Given the description of an element on the screen output the (x, y) to click on. 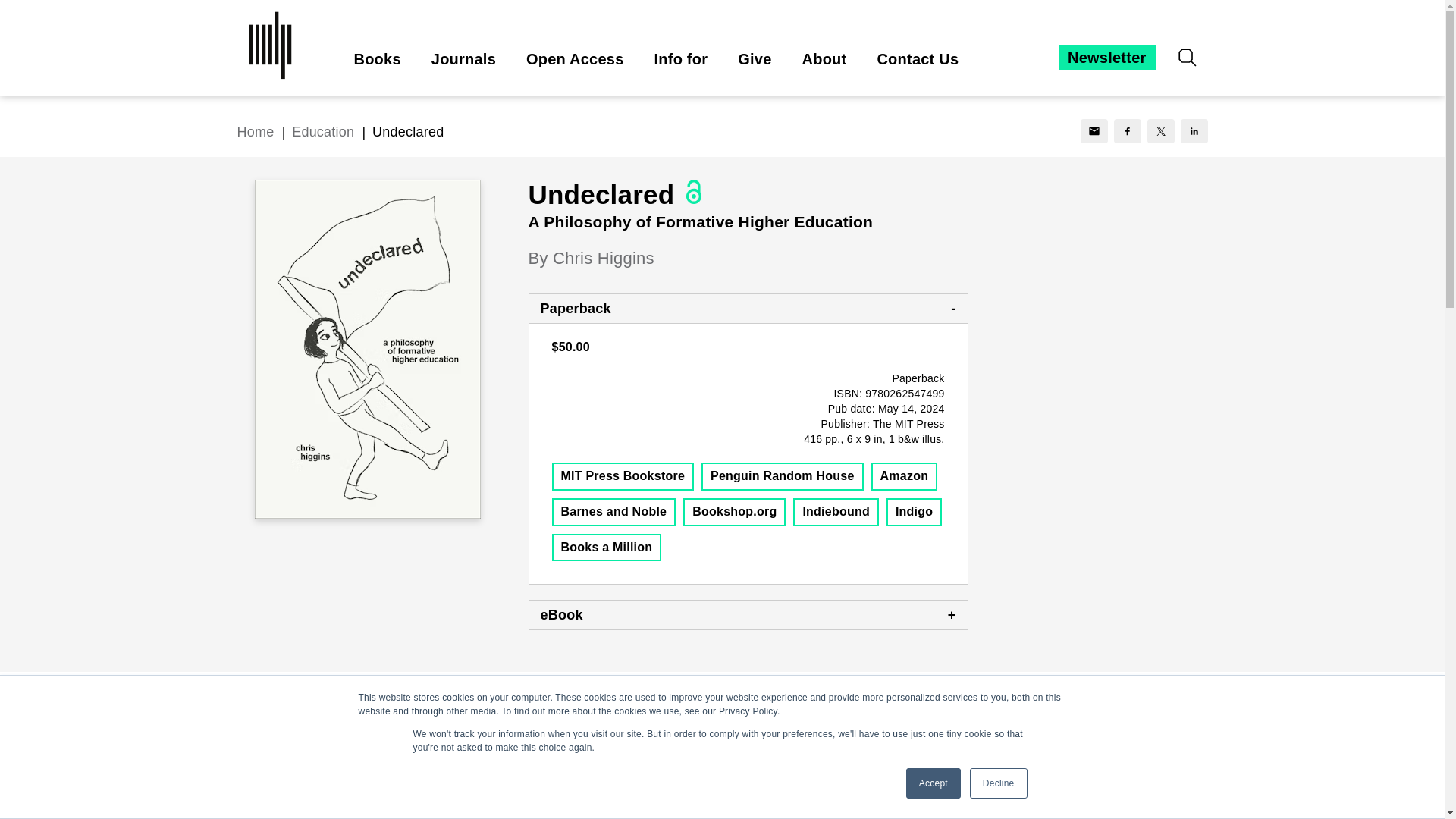
Journals (463, 60)
View results for education (322, 131)
Accept (932, 783)
Books (376, 60)
Decline (998, 783)
Newsletter (1106, 57)
Back to homepage (254, 131)
Open Access (574, 60)
